Given the description of an element on the screen output the (x, y) to click on. 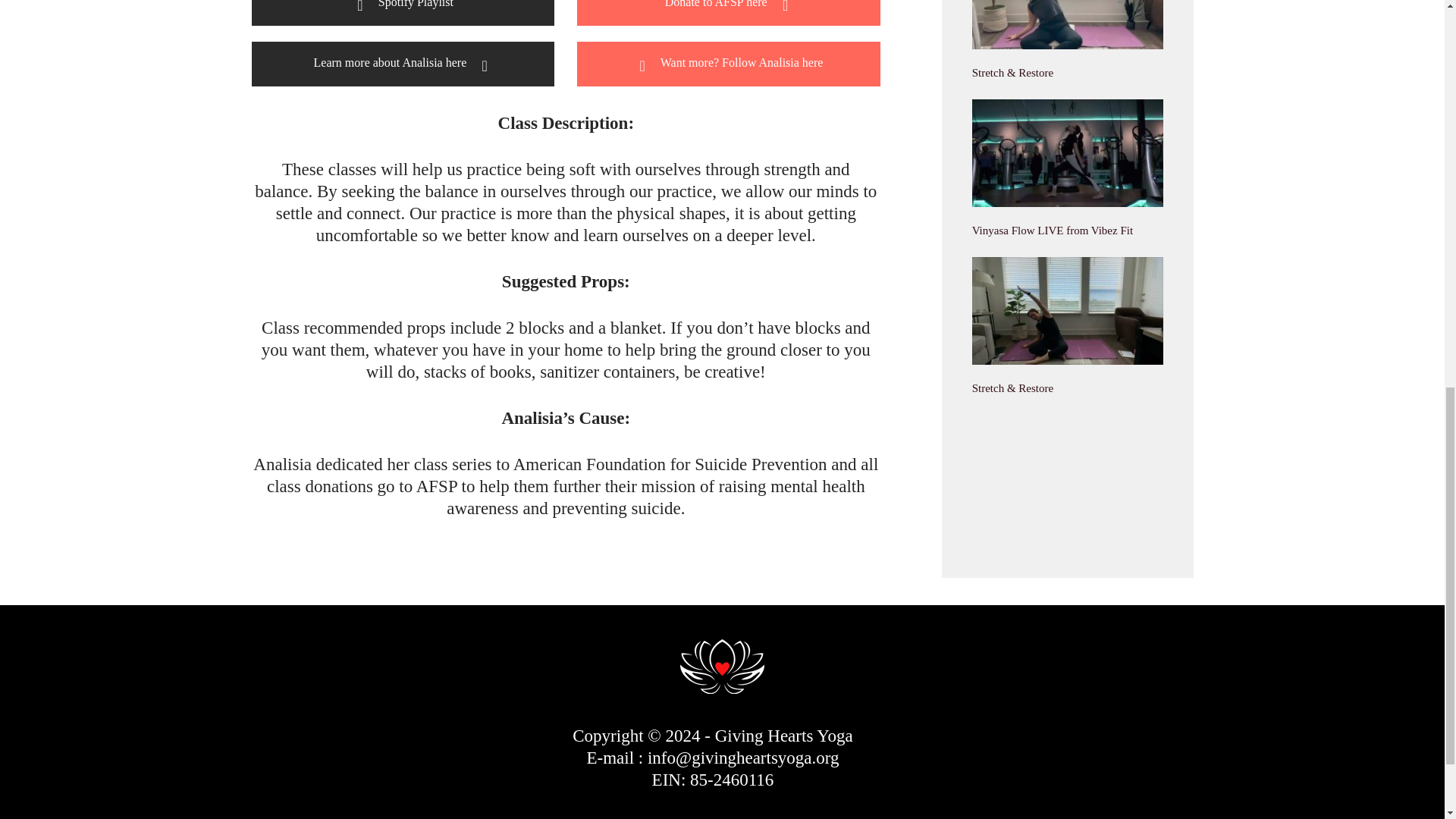
Vinyasa Flow LIVE from Vibez Fit (1052, 230)
Learn more about Analisia here (402, 63)
Spotify Playlist (402, 12)
Want more? Follow Analisia here (728, 63)
Donate to AFSP here (728, 12)
